Given the description of an element on the screen output the (x, y) to click on. 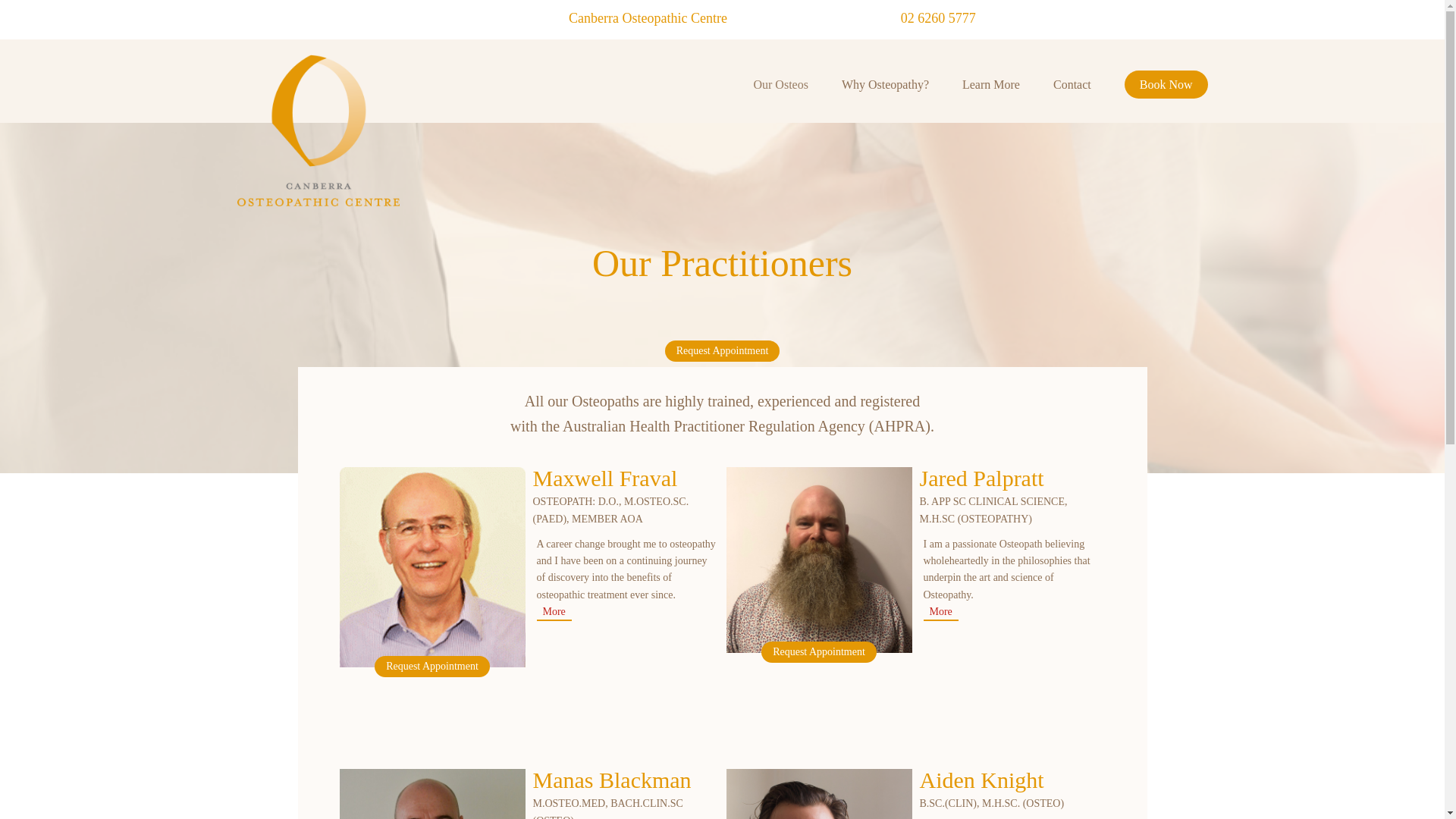
Request Appointment (431, 666)
Request Appointment (818, 651)
Our Osteos (780, 84)
More (940, 613)
Learn More (991, 84)
Why Osteopathy? (885, 84)
Contact (1072, 84)
More (554, 613)
Request Appointment (722, 350)
Canberra (316, 130)
Book Now (1166, 84)
